Given the description of an element on the screen output the (x, y) to click on. 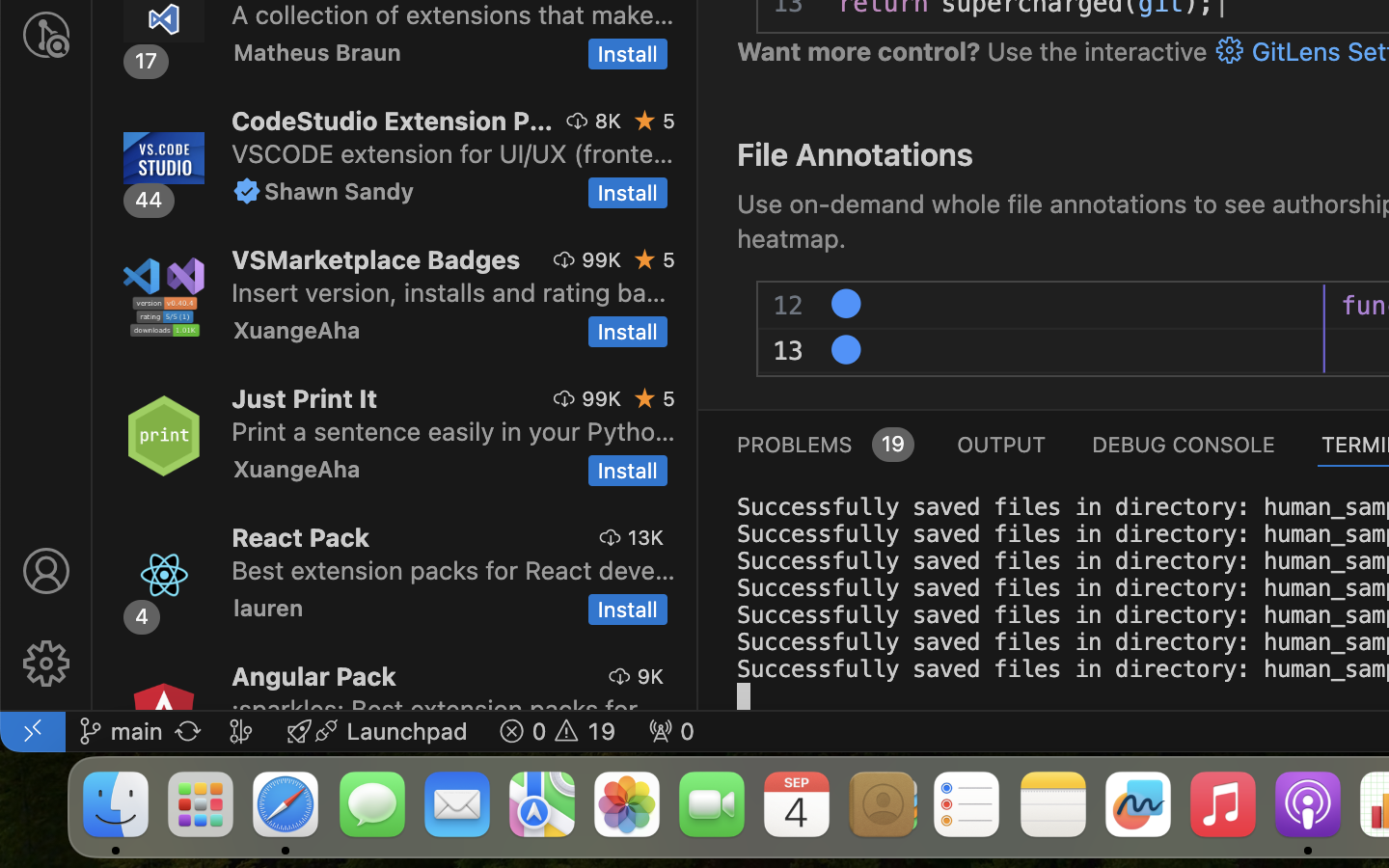
99K Element type: AXStaticText (601, 258)
44 Element type: AXStaticText (149, 199)
Supercharged Element type: AXStaticText (970, 351)
12 Element type: AXStaticText (788, 305)
Hello GitLens Element type: AXStaticText (978, 305)
